Given the description of an element on the screen output the (x, y) to click on. 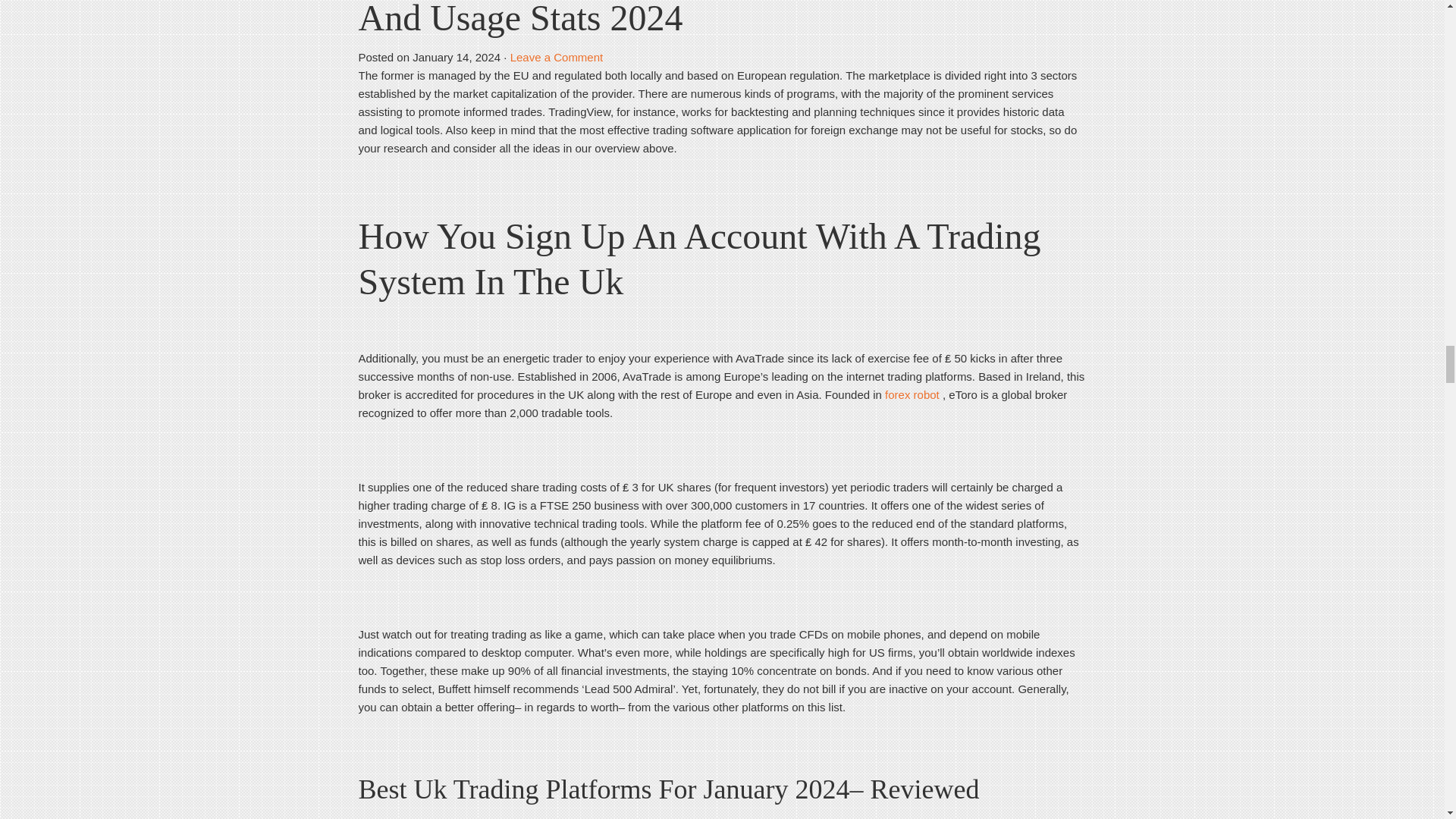
forex robot (912, 394)
Leave a Comment (557, 56)
